Given the description of an element on the screen output the (x, y) to click on. 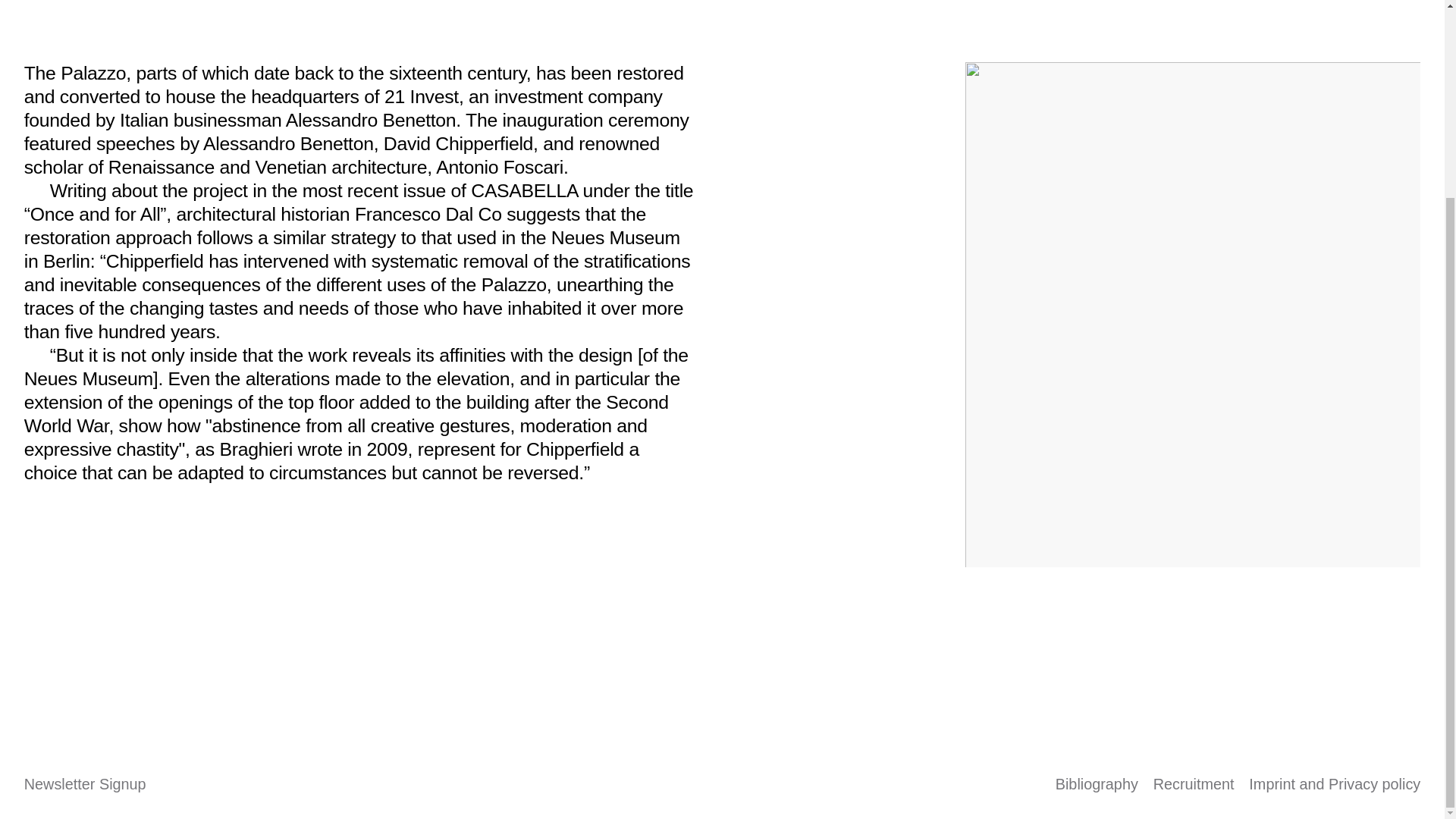
Imprint and Privacy policy (1335, 783)
Bibliography (1096, 783)
Recruitment (1193, 783)
Newsletter Signup (85, 783)
